Given the description of an element on the screen output the (x, y) to click on. 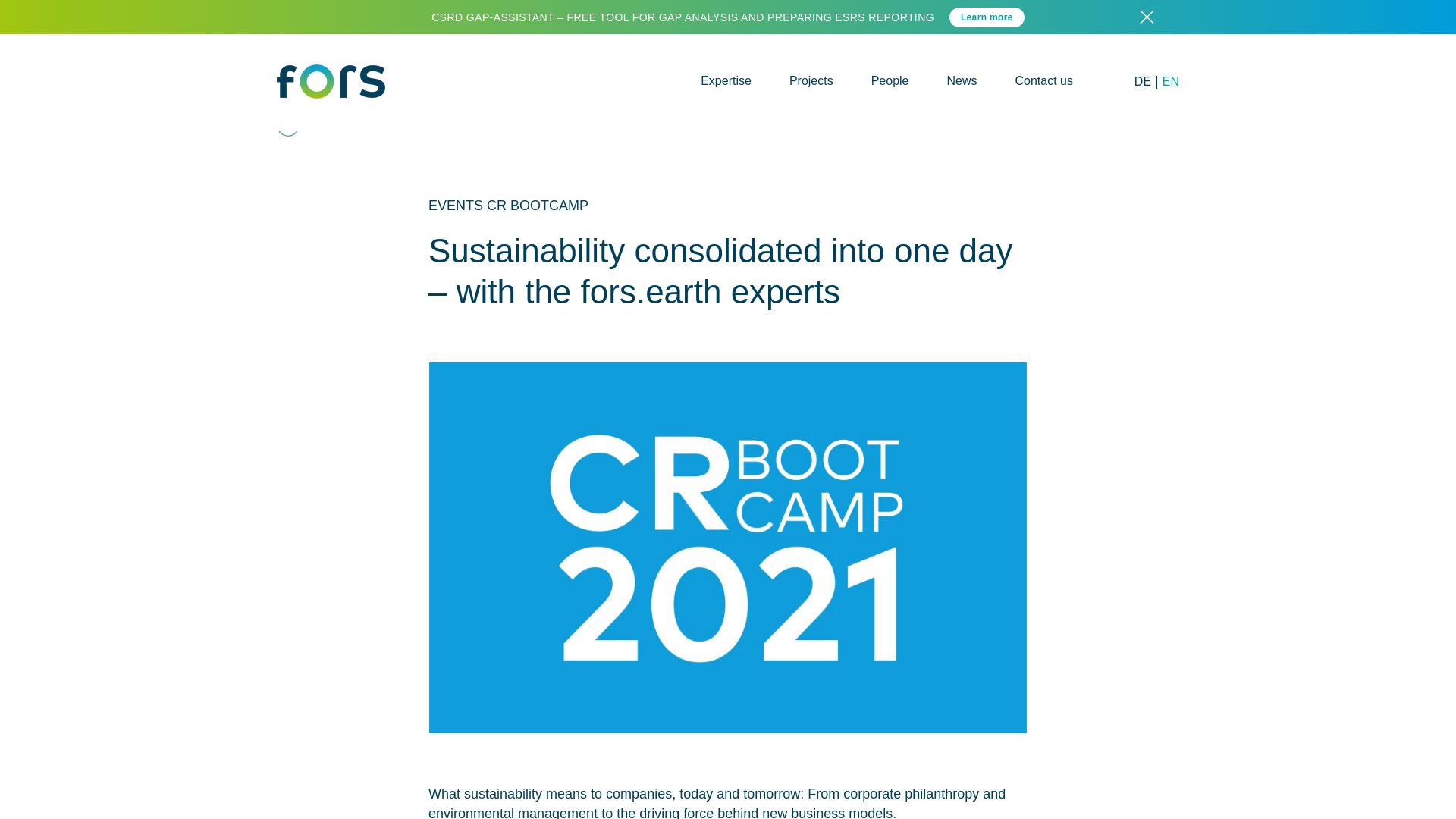
High-impact consulting services (725, 80)
People (889, 80)
Projects (810, 80)
Contact us (1043, 80)
Blog Viewer (1142, 81)
News (961, 80)
Learn more (987, 17)
What's new with fors.earth? (961, 80)
Cases: examples for customer projects (810, 80)
DE (1142, 81)
Expertise (725, 80)
